Given the description of an element on the screen output the (x, y) to click on. 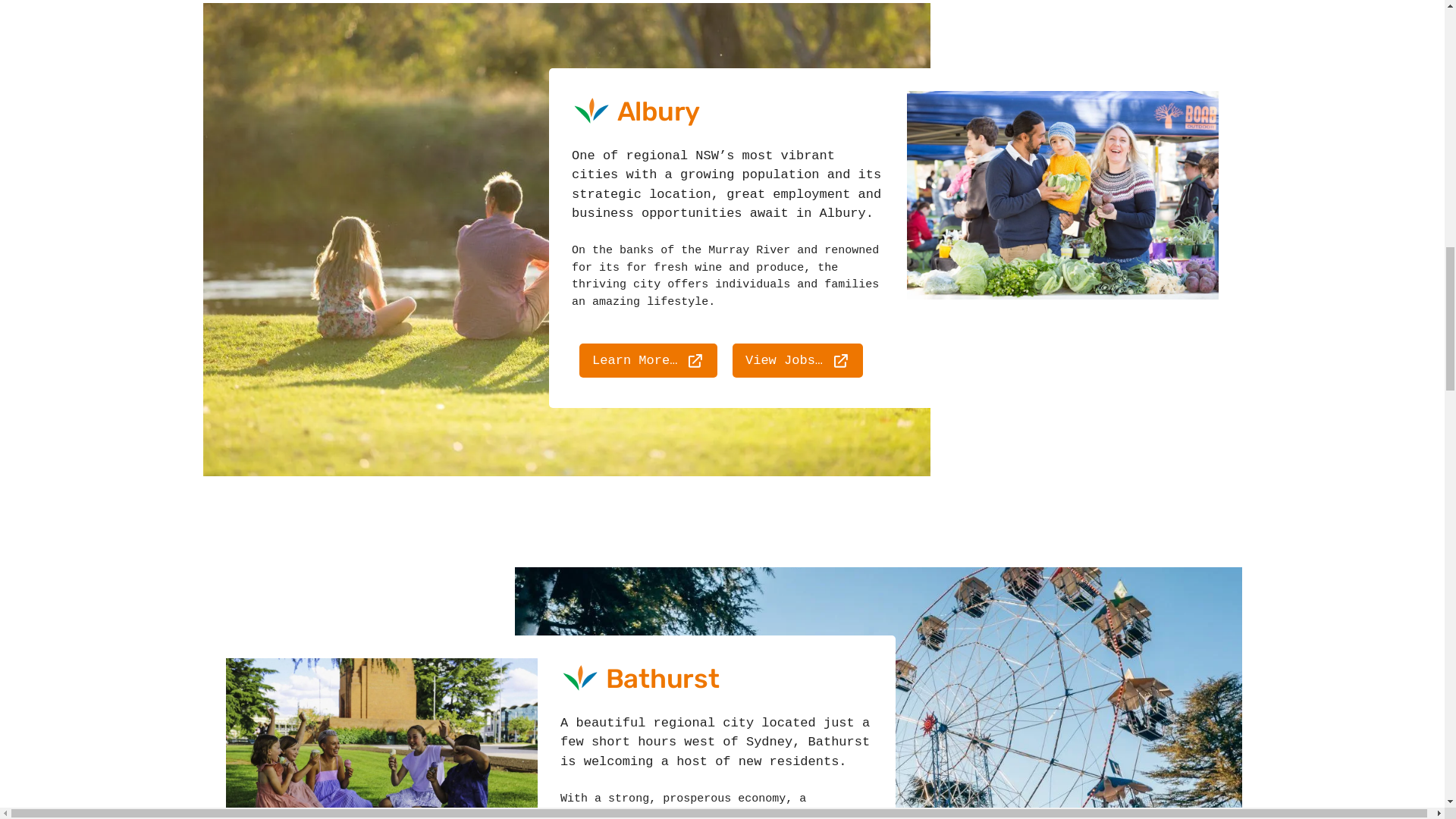
Evocities Element type: hover (293, 43)
Enquiry Element type: text (1183, 43)
Bathurst Element type: text (596, 740)
Tamworth Element type: text (1100, 740)
Evocities Element type: hover (293, 43)
Albury Element type: text (343, 740)
Dubbo Element type: text (848, 740)
